Given the description of an element on the screen output the (x, y) to click on. 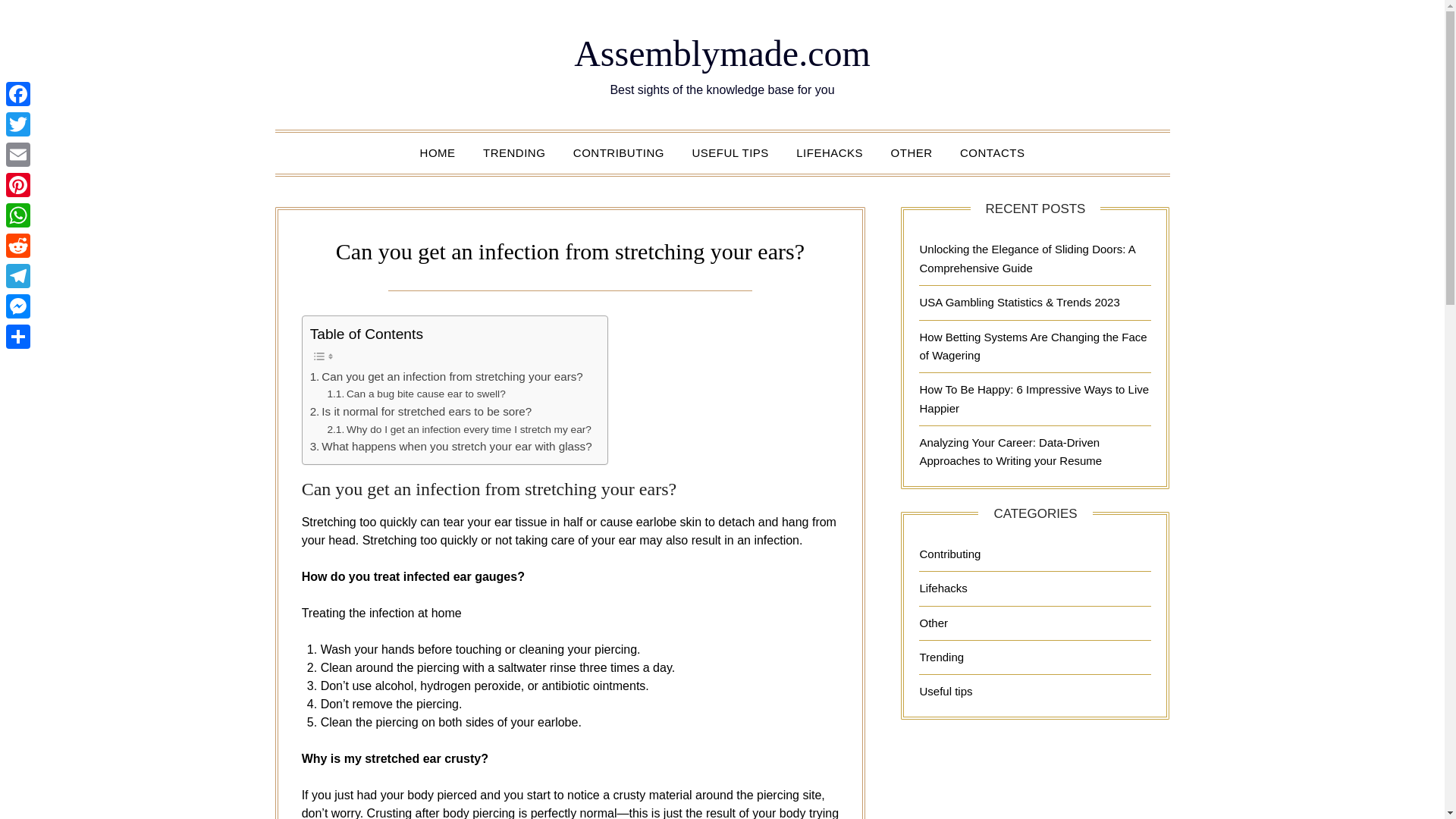
USEFUL TIPS (729, 152)
Can you get an infection from stretching your ears? (446, 376)
Assemblymade.com (721, 53)
CONTRIBUTING (618, 152)
Can a bug bite cause ear to swell? (415, 393)
What happens when you stretch your ear with glass? (451, 446)
Can a bug bite cause ear to swell? (415, 393)
Other (932, 621)
Facebook (17, 93)
Is it normal for stretched ears to be sore? (421, 411)
How Betting Systems Are Changing the Face of Wagering (1032, 345)
HOME (437, 152)
Lifehacks (942, 587)
Contributing (948, 553)
How To Be Happy: 6 Impressive Ways to Live Happier (1033, 398)
